Given the description of an element on the screen output the (x, y) to click on. 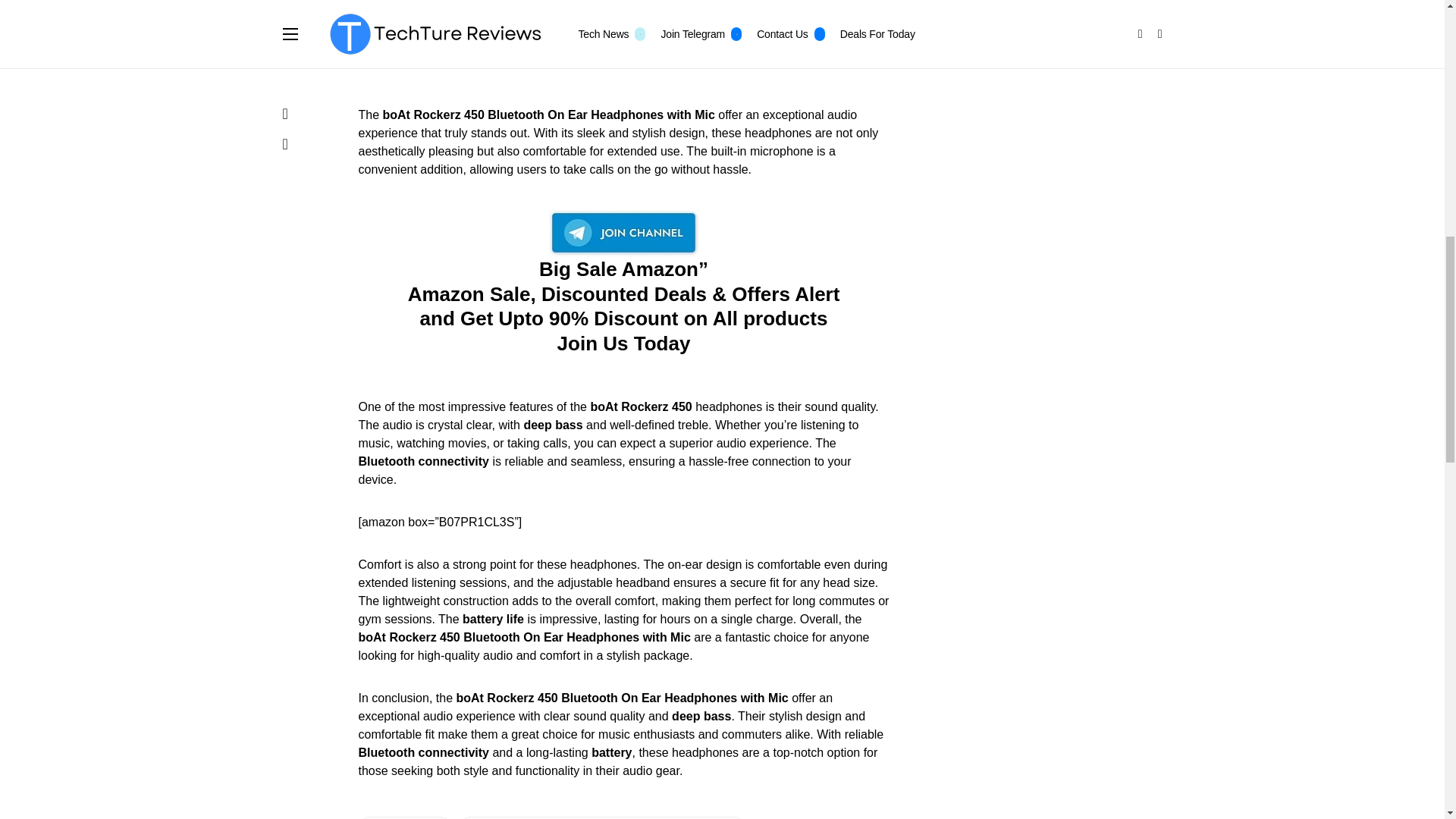
Advertisement (1047, 116)
